Given the description of an element on the screen output the (x, y) to click on. 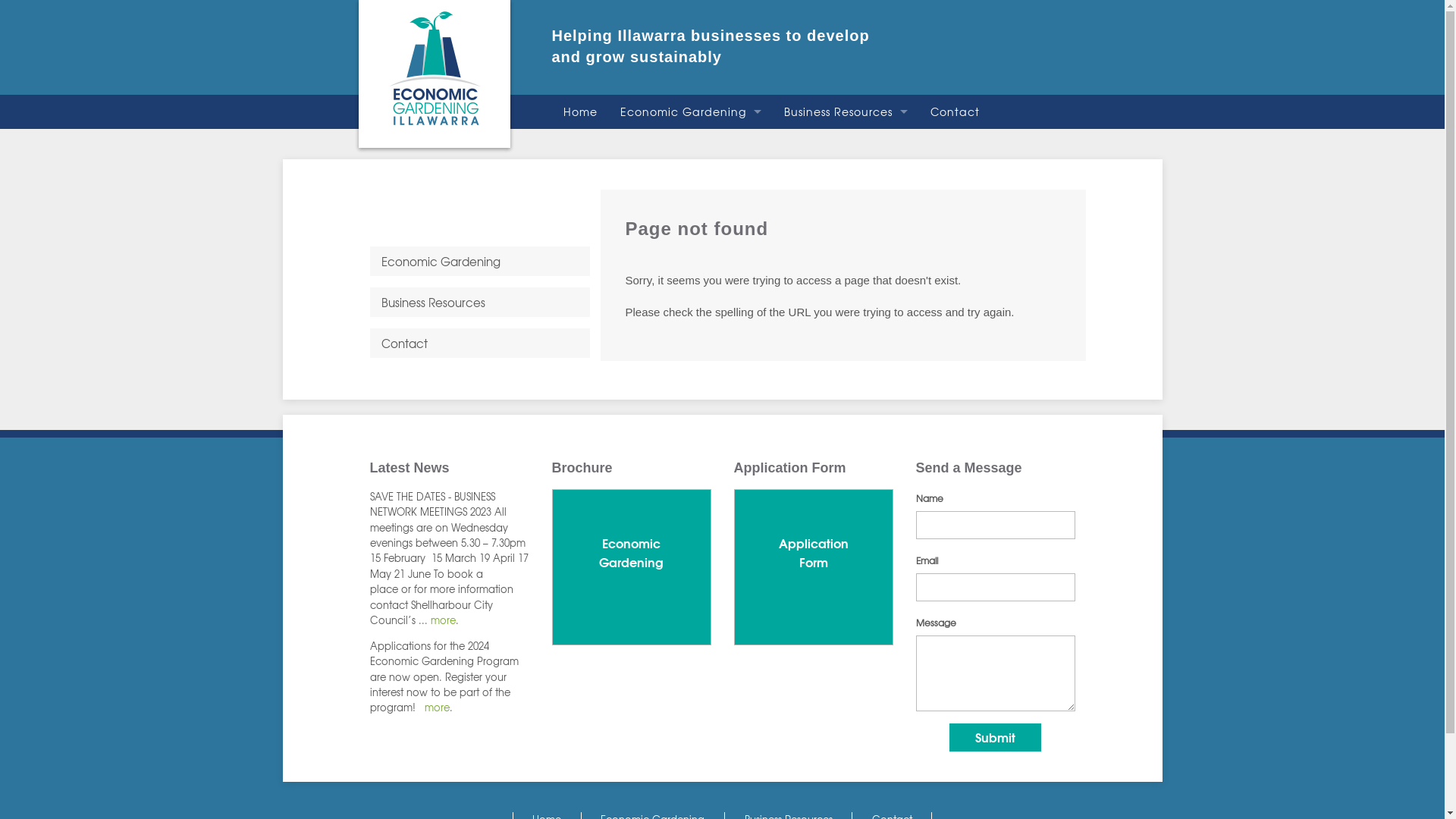
Contact Element type: text (479, 342)
Business Resources Element type: text (844, 111)
Application Form Element type: text (813, 567)
Economic Gardening Element type: text (689, 111)
more Element type: text (436, 706)
more Element type: text (442, 619)
Submit Element type: text (995, 737)
Home Element type: text (580, 111)
Economic Gardening Element type: text (479, 261)
Economic Gardening Element type: text (630, 552)
Business Resources Element type: text (479, 301)
Contact Element type: text (955, 111)
Economic Gardening Element type: text (631, 567)
Application Form Element type: text (812, 552)
